Given the description of an element on the screen output the (x, y) to click on. 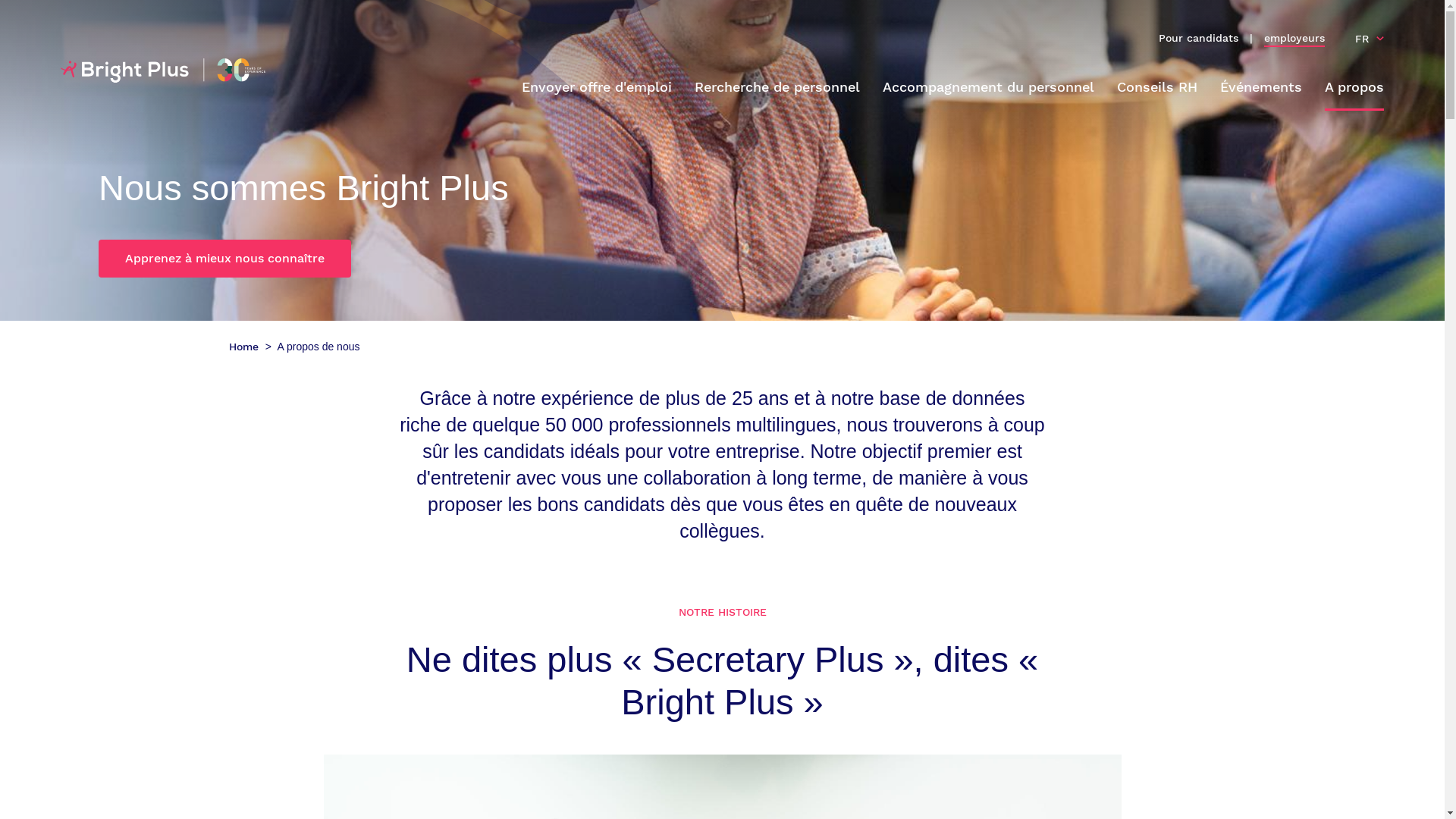
Conseils RH Element type: text (1157, 87)
Envoyer offre d'emploi Element type: text (596, 87)
Accompagnement du personnel Element type: text (988, 87)
Rercherche de personnel Element type: text (776, 87)
A propos Element type: text (1353, 87)
Home Element type: text (245, 346)
candidats Element type: text (1212, 38)
employeurs Element type: text (1294, 38)
